Given the description of an element on the screen output the (x, y) to click on. 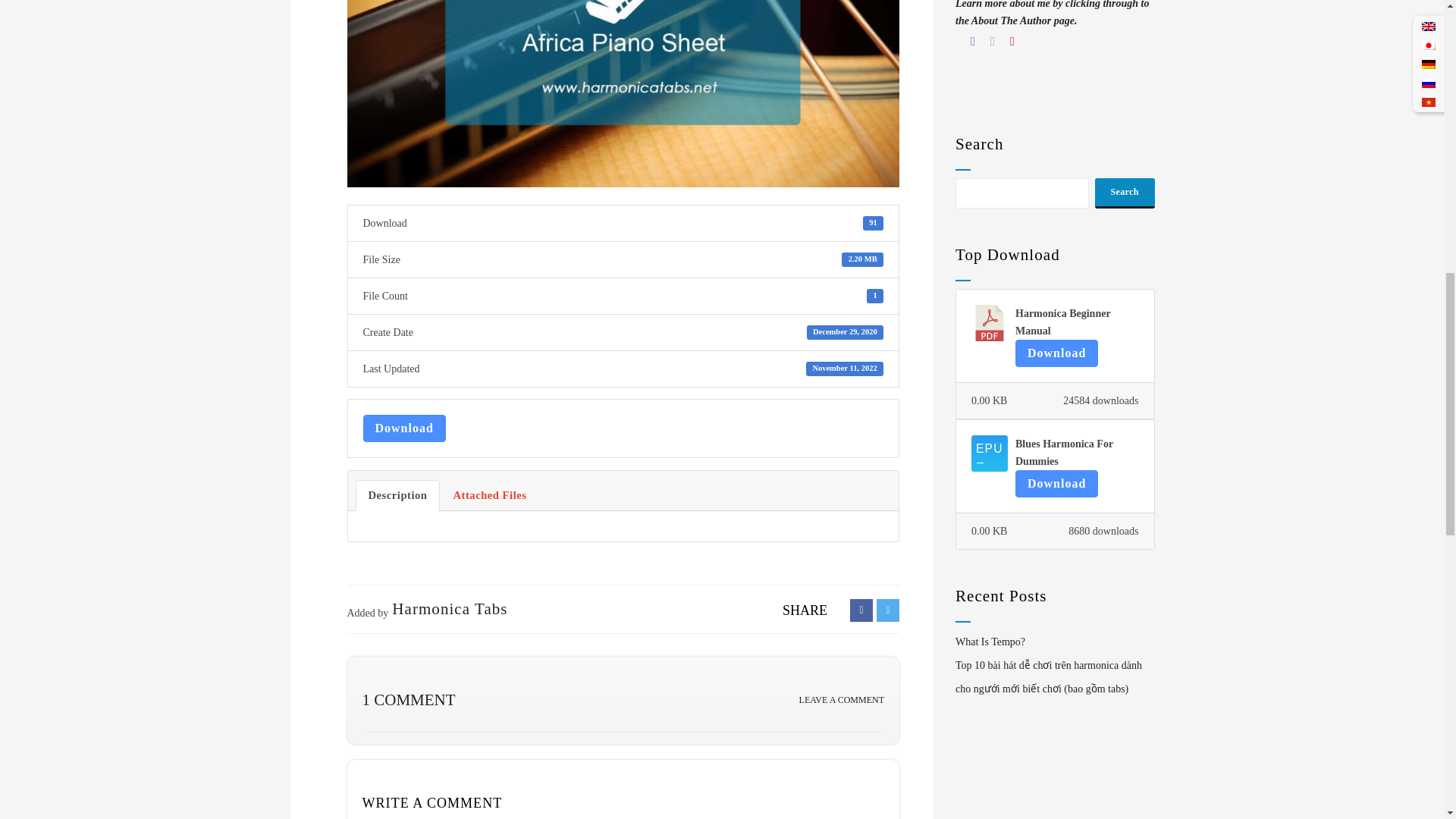
Search (1124, 193)
Africa 3 (623, 93)
Share On Facebook (861, 609)
Share On Twitter (887, 609)
